Given the description of an element on the screen output the (x, y) to click on. 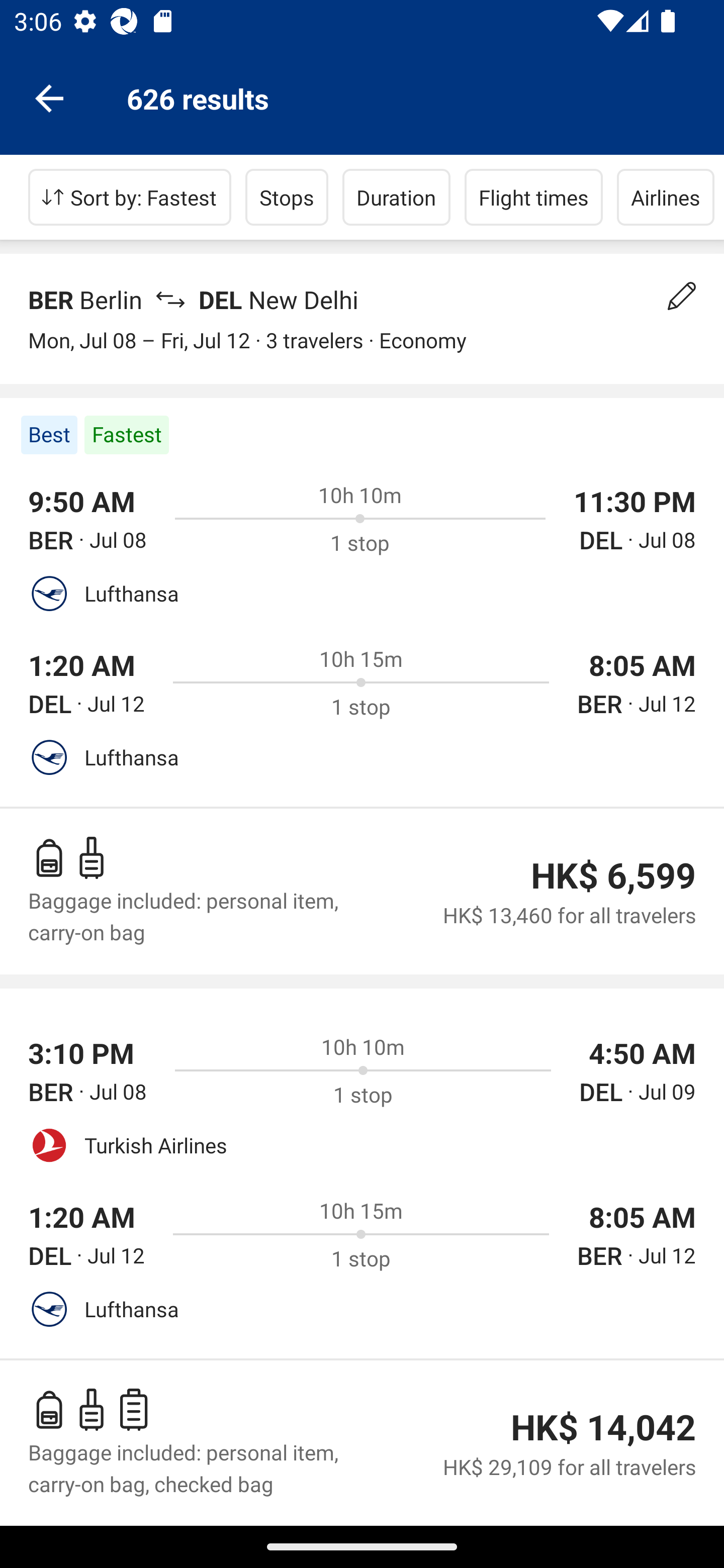
Navigate up (49, 97)
Sort by: Fastest (129, 197)
Stops (286, 197)
Duration (396, 197)
Flight times (533, 197)
Airlines (665, 197)
Change your search details (681, 296)
HK$ 6,599 (612, 875)
HK$ 14,042 (603, 1427)
